Given the description of an element on the screen output the (x, y) to click on. 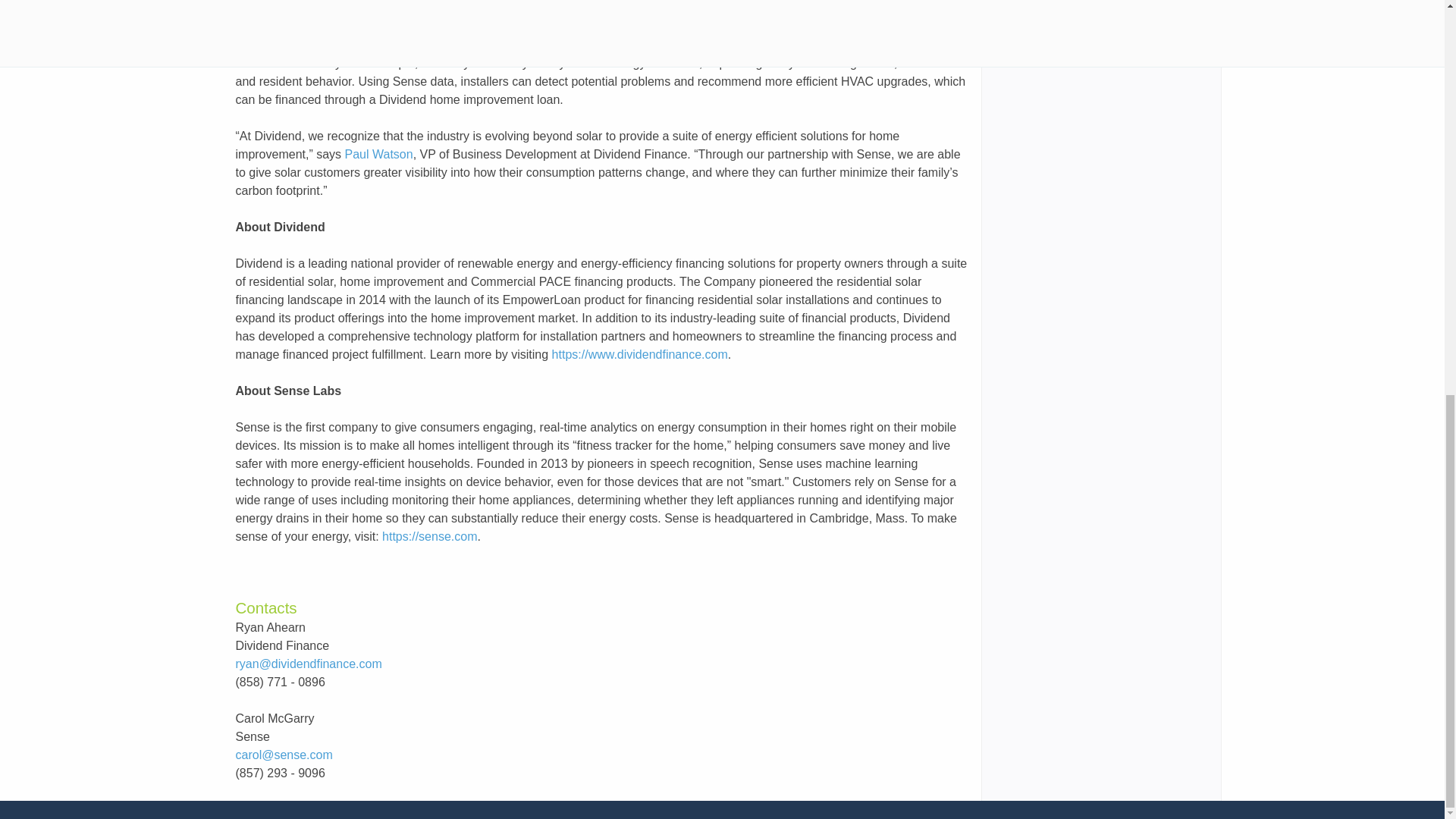
Paul Watson (379, 154)
